Given the description of an element on the screen output the (x, y) to click on. 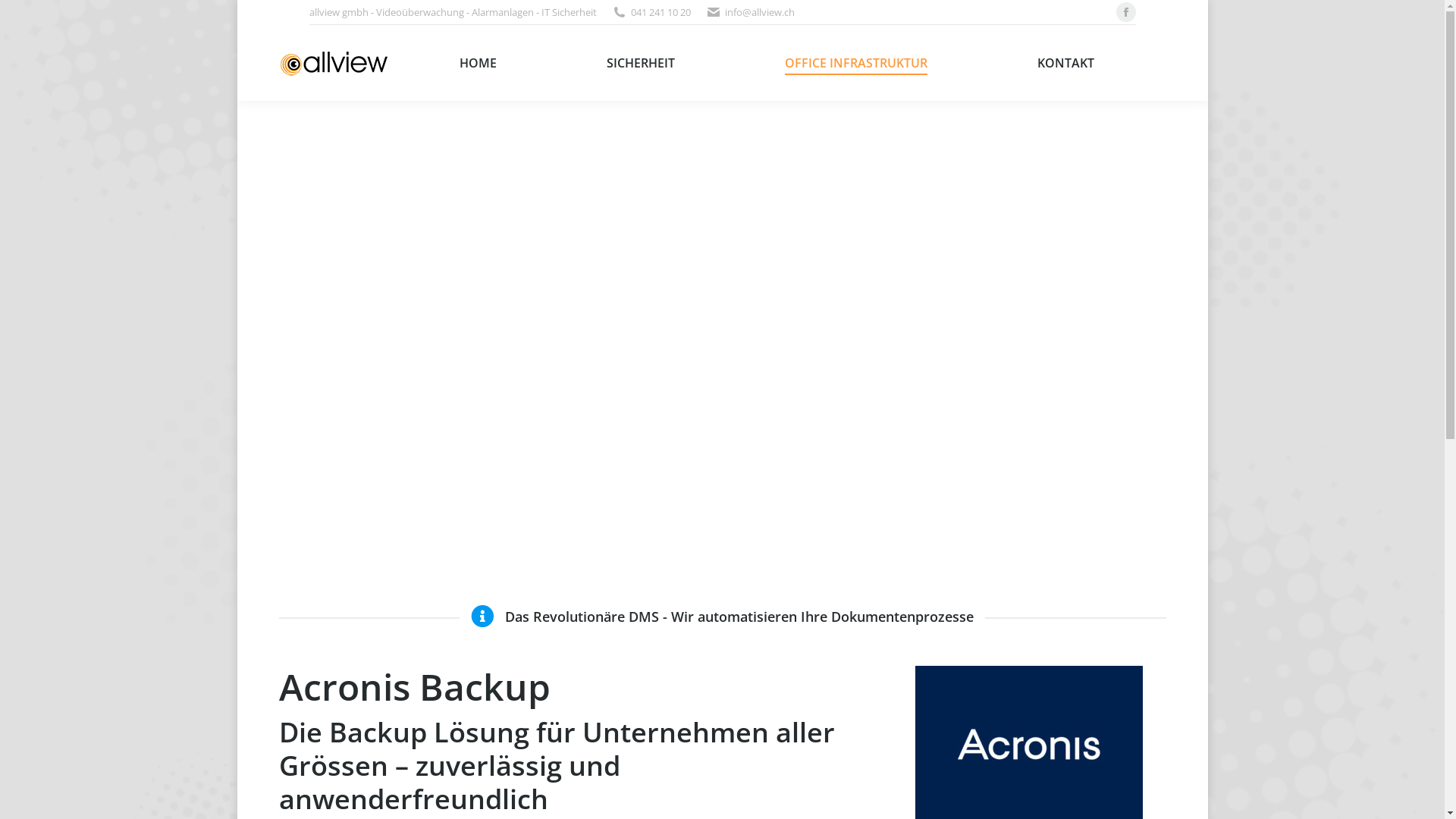
SICHERHEIT Element type: text (640, 62)
HOME Element type: text (477, 62)
KONTAKT Element type: text (1065, 62)
Facebook page opens in new window Element type: text (1125, 11)
Los! Element type: text (25, 16)
OFFICE INFRASTRUKTUR Element type: text (856, 62)
